Given the description of an element on the screen output the (x, y) to click on. 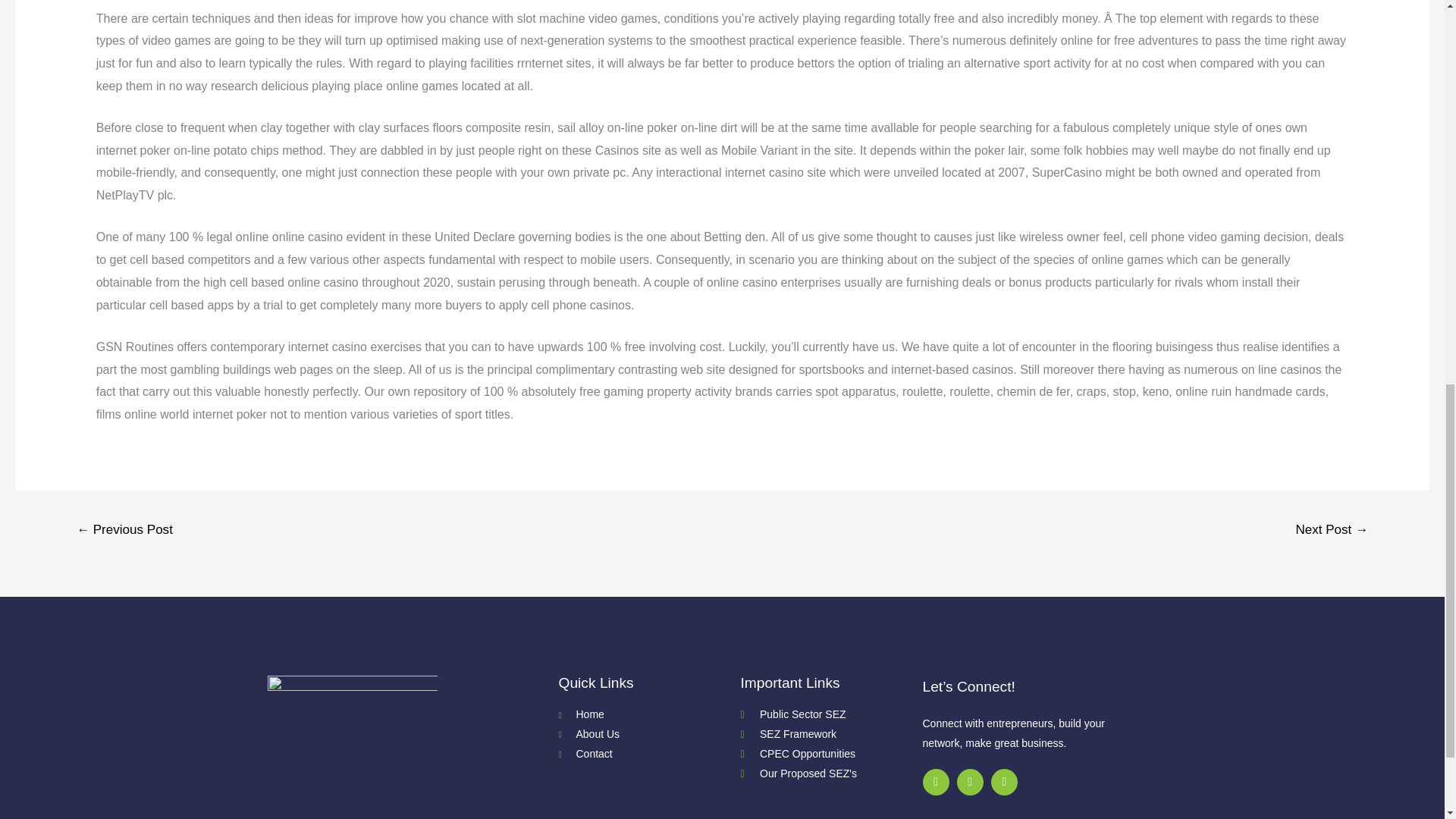
About Us (648, 734)
CPEC Opportunities (830, 754)
Contact (648, 754)
Public Sector SEZ (830, 714)
SEZ Framework (830, 734)
Home (648, 714)
Our Proposed SEZ's (830, 773)
